Given the description of an element on the screen output the (x, y) to click on. 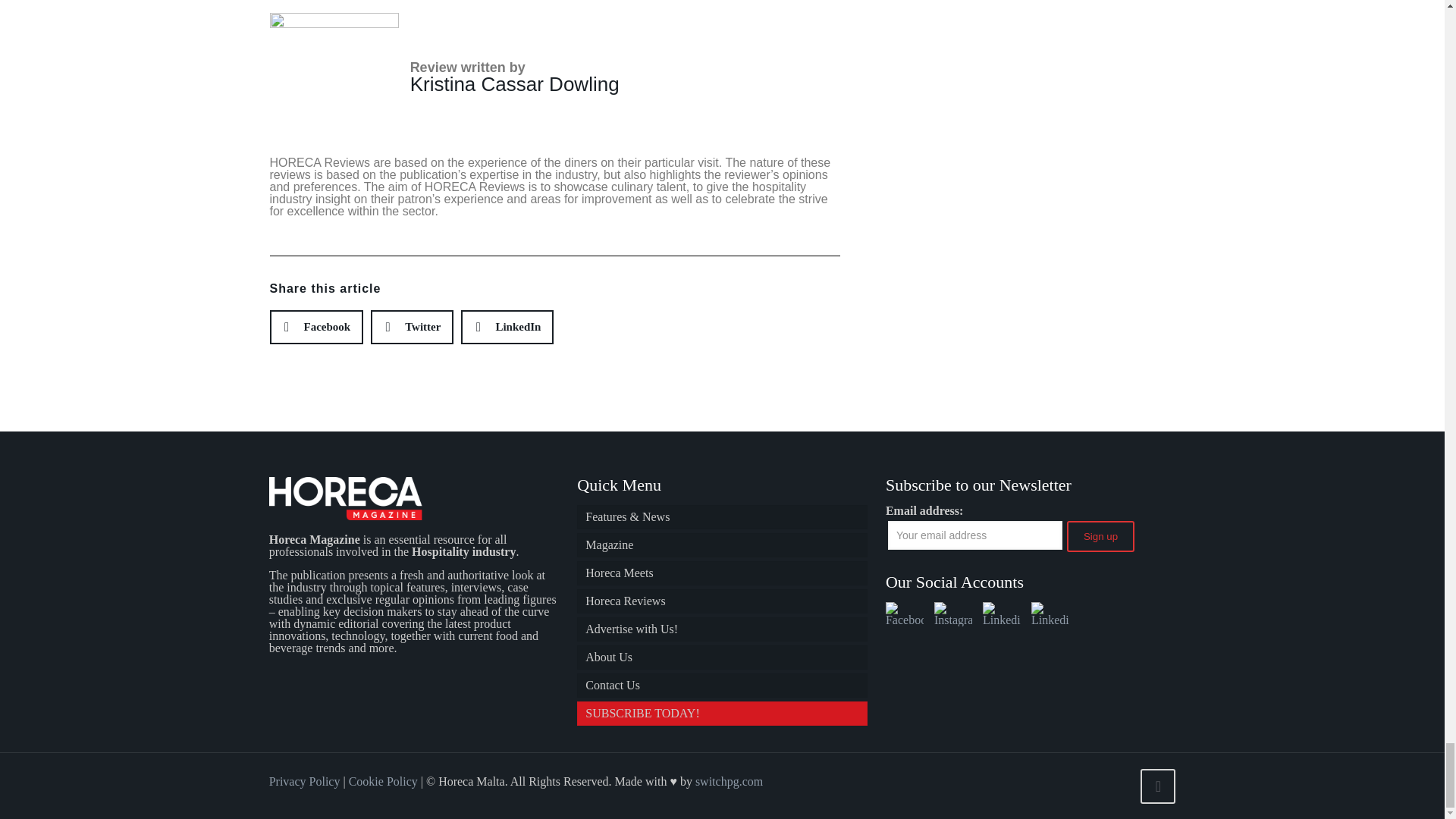
Horeca Reviews (721, 600)
About Us (721, 657)
Contact Us (721, 685)
SUBSCRIBE TODAY! (721, 713)
Sign up (1100, 536)
Advertise with Us! (721, 629)
Sign up (1100, 536)
Horeca Meets (721, 573)
Magazine (721, 545)
